Given the description of an element on the screen output the (x, y) to click on. 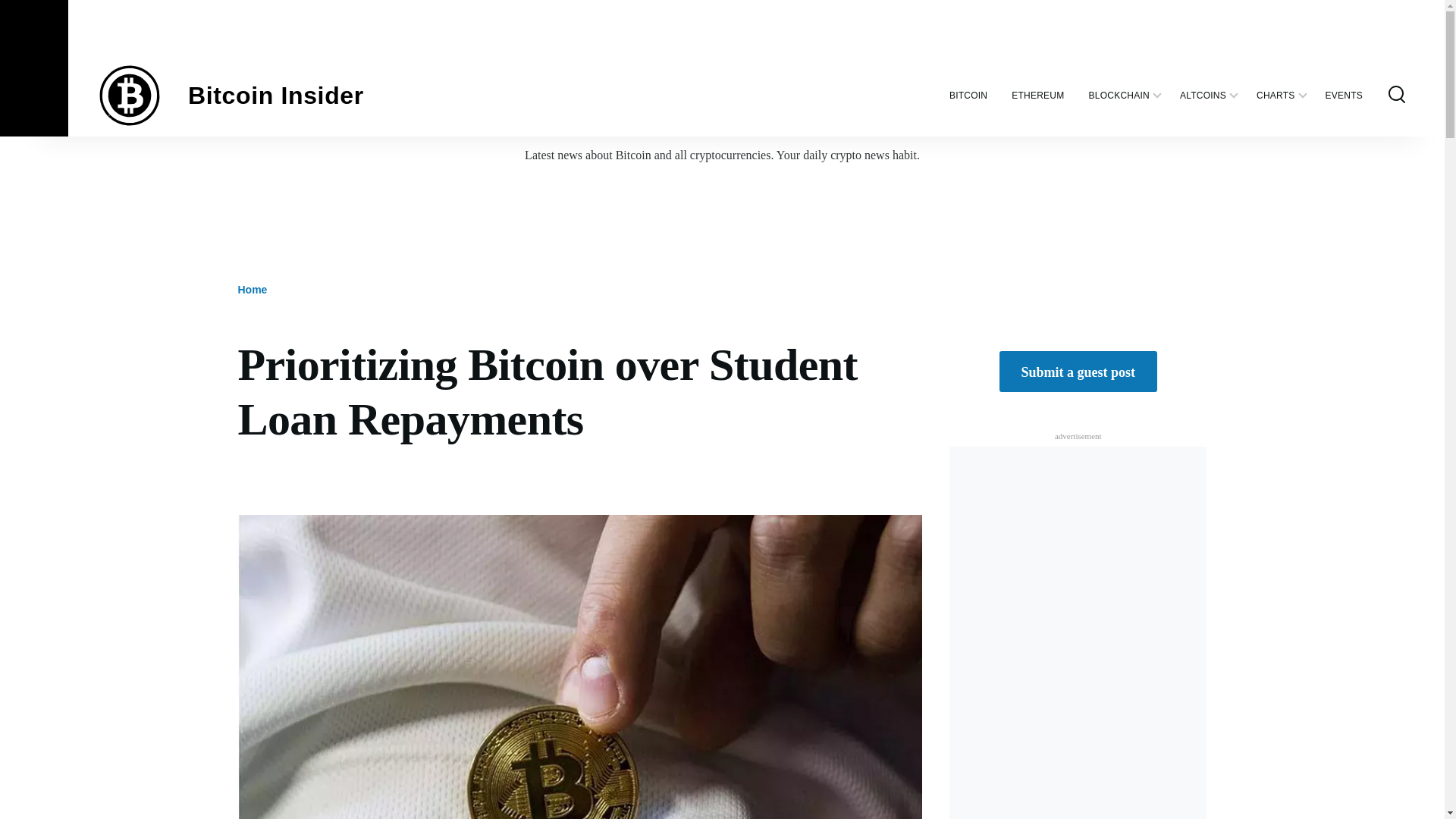
Home (275, 94)
Bitcoin Insider (275, 94)
Skip to main content (595, 6)
